Given the description of an element on the screen output the (x, y) to click on. 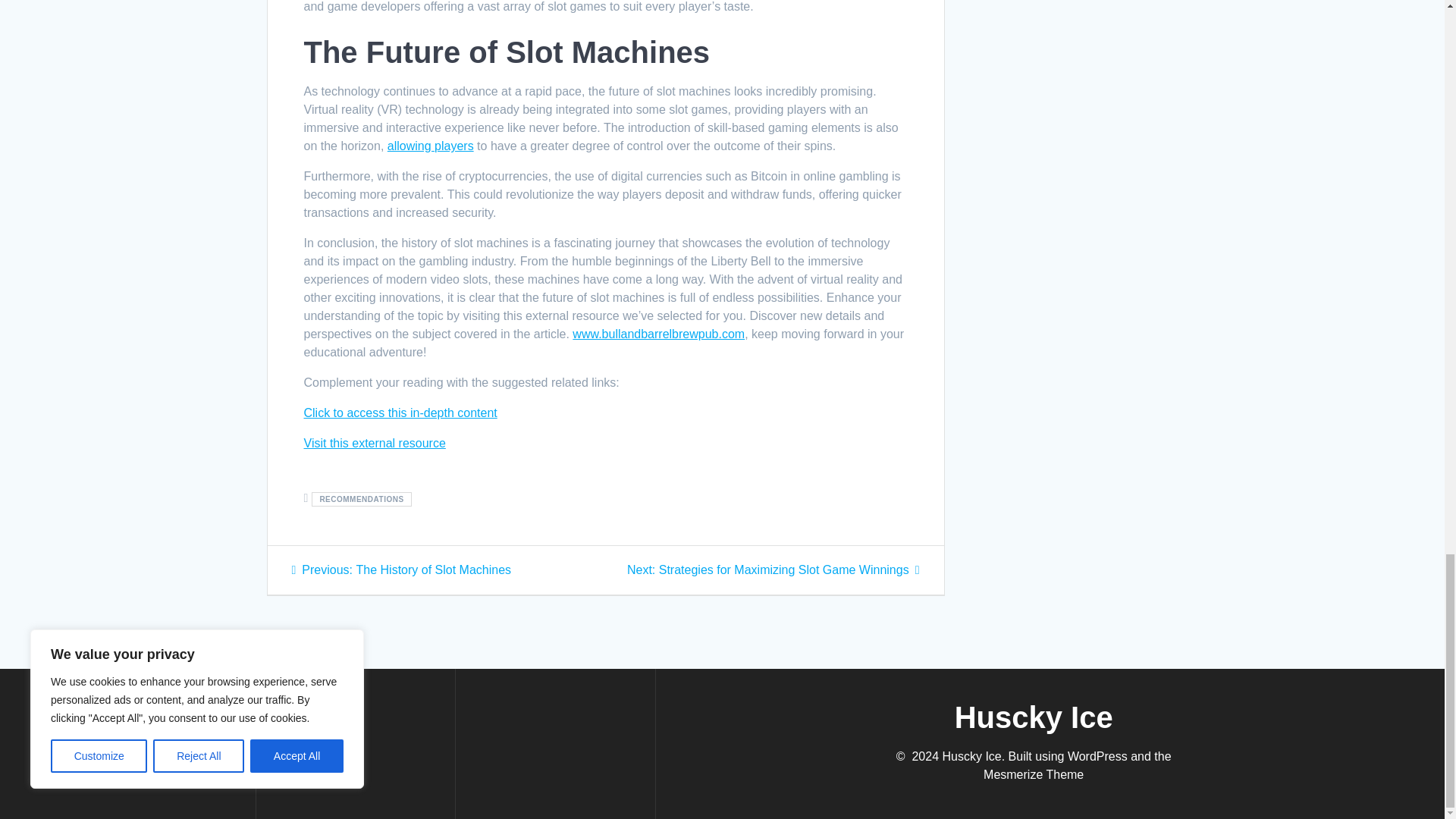
allowing players (430, 145)
RECOMMENDATIONS (361, 499)
www.bullandbarrelbrewpub.com (401, 569)
Click to access this in-depth content (658, 333)
Visit this external resource (399, 412)
